Given the description of an element on the screen output the (x, y) to click on. 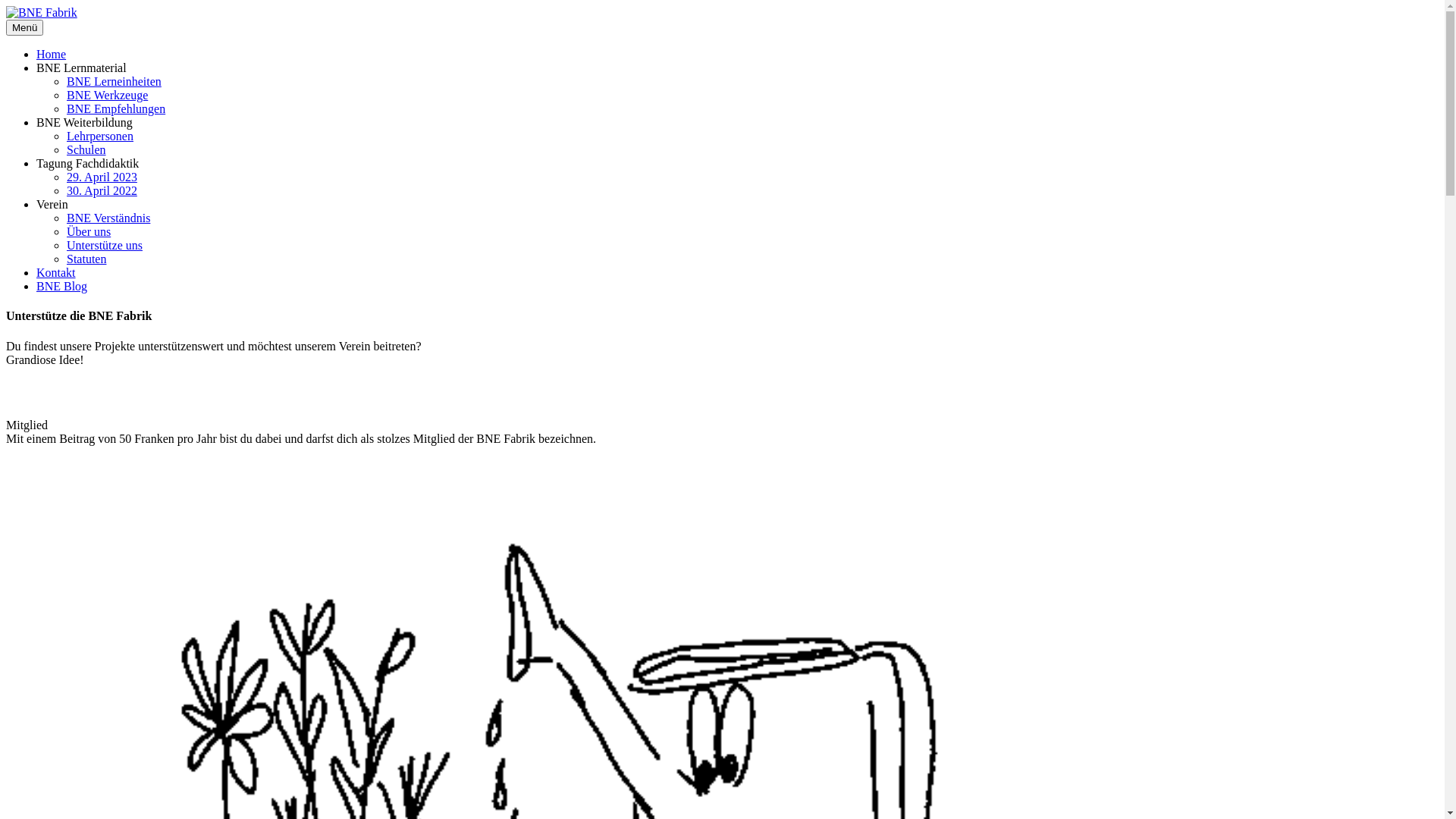
BNE Empfehlungen Element type: text (115, 108)
Statuten Element type: text (86, 258)
Schulen Element type: text (86, 149)
BNE Blog Element type: text (61, 285)
29. April 2023 Element type: text (101, 176)
Kontakt Element type: text (55, 272)
Home Element type: text (50, 53)
30. April 2022 Element type: text (101, 190)
Lehrpersonen Element type: text (99, 135)
BNE Werkzeuge Element type: text (106, 94)
BNE Lerneinheiten Element type: text (113, 81)
